Given the description of an element on the screen output the (x, y) to click on. 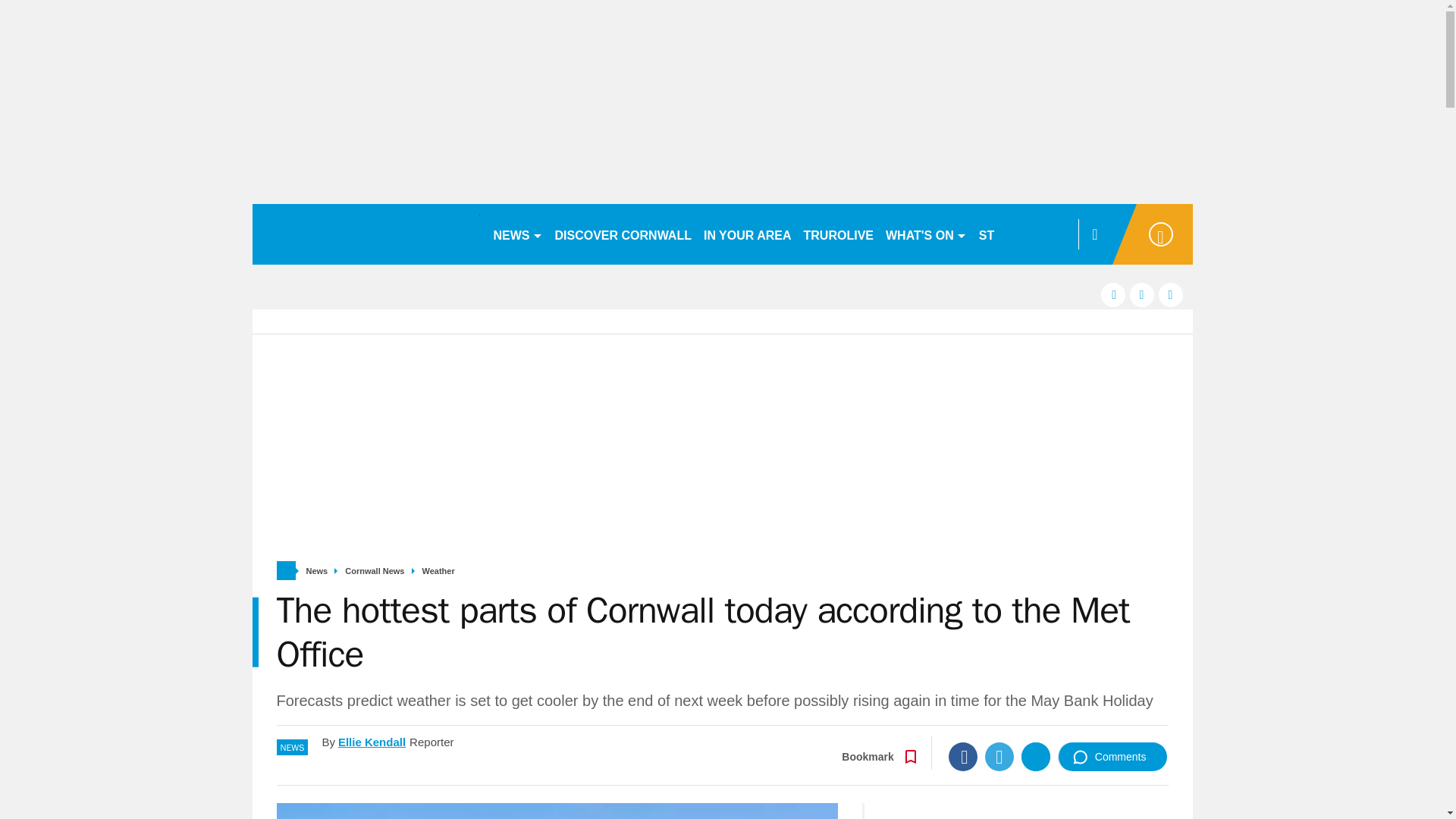
instagram (1170, 294)
Comments (1112, 756)
ST AUSTELL (1015, 233)
Twitter (999, 756)
facebook (1112, 294)
NEWS (517, 233)
twitter (1141, 294)
Facebook (962, 756)
DISCOVER CORNWALL (622, 233)
cornwalllive (365, 233)
